Given the description of an element on the screen output the (x, y) to click on. 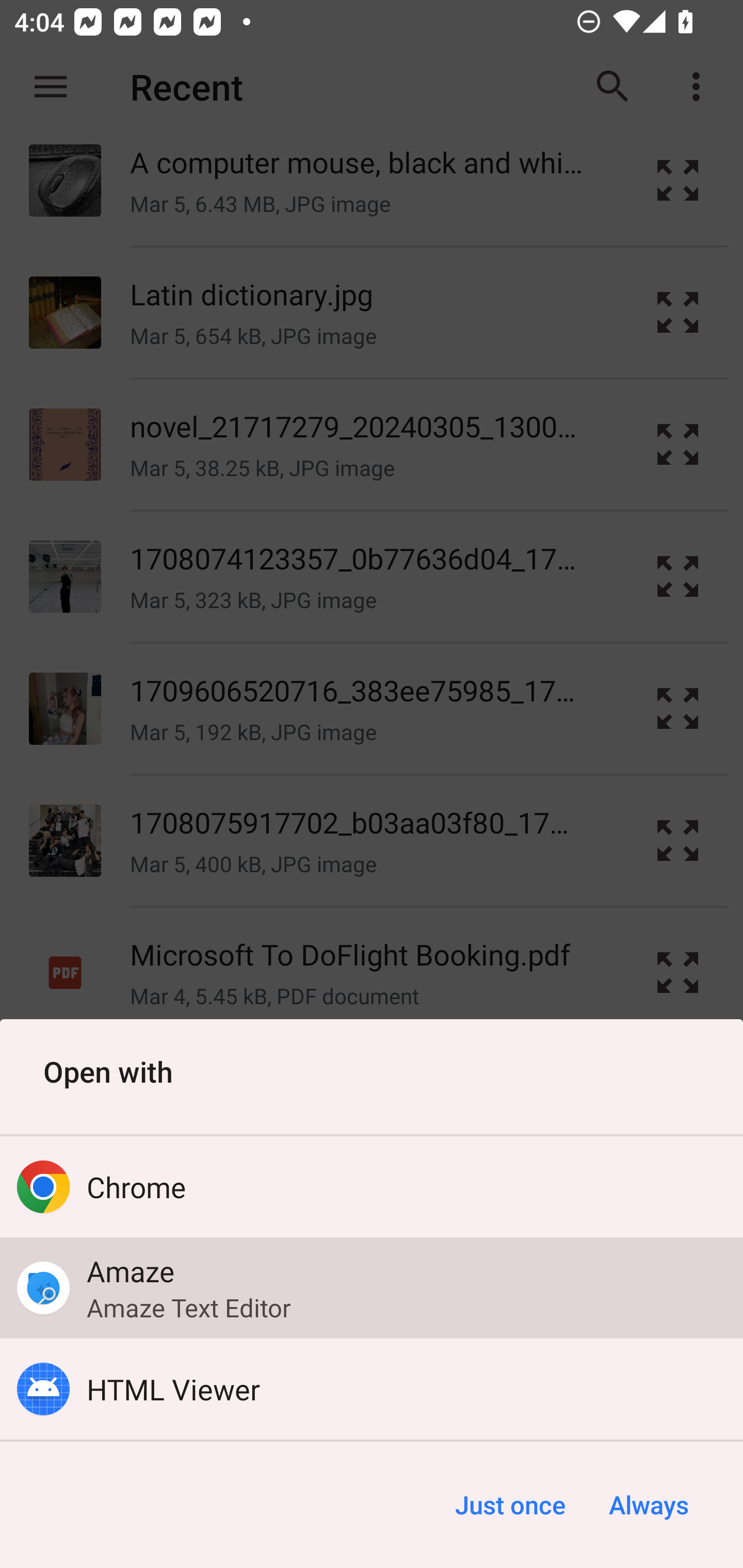
Chrome (371, 1186)
Amaze Amaze Text Editor (371, 1288)
HTML Viewer (371, 1389)
Just once (509, 1504)
Always (648, 1504)
